Given the description of an element on the screen output the (x, y) to click on. 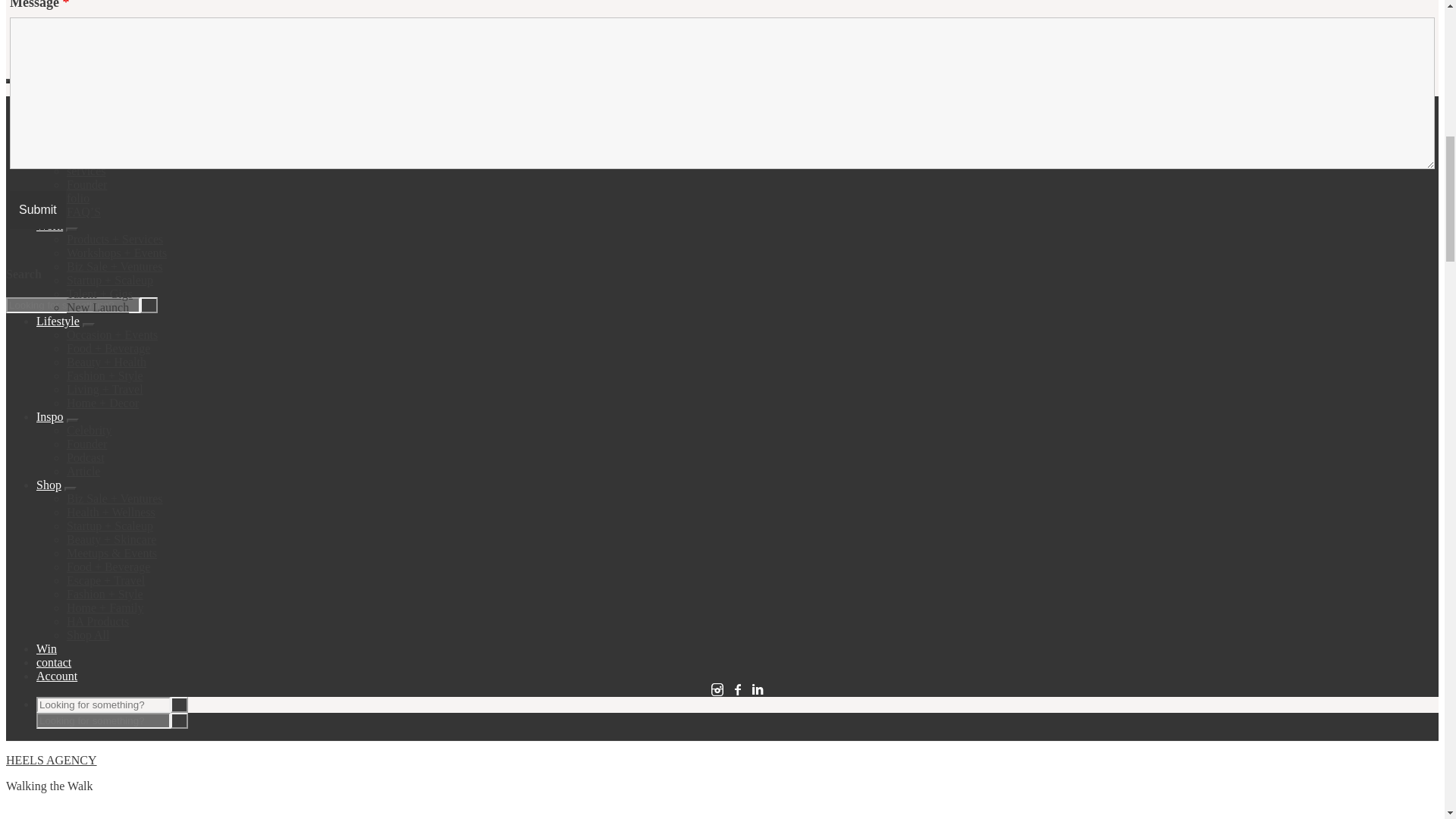
about (50, 115)
Instagram (717, 689)
folio (77, 197)
services (86, 170)
Facebook (737, 689)
brands (82, 143)
Work (49, 225)
New Launch (97, 307)
Home (50, 102)
Founder (86, 184)
purpose (85, 129)
Submit (37, 209)
Linkedin (757, 689)
Submit (37, 209)
expertise (88, 156)
